Given the description of an element on the screen output the (x, y) to click on. 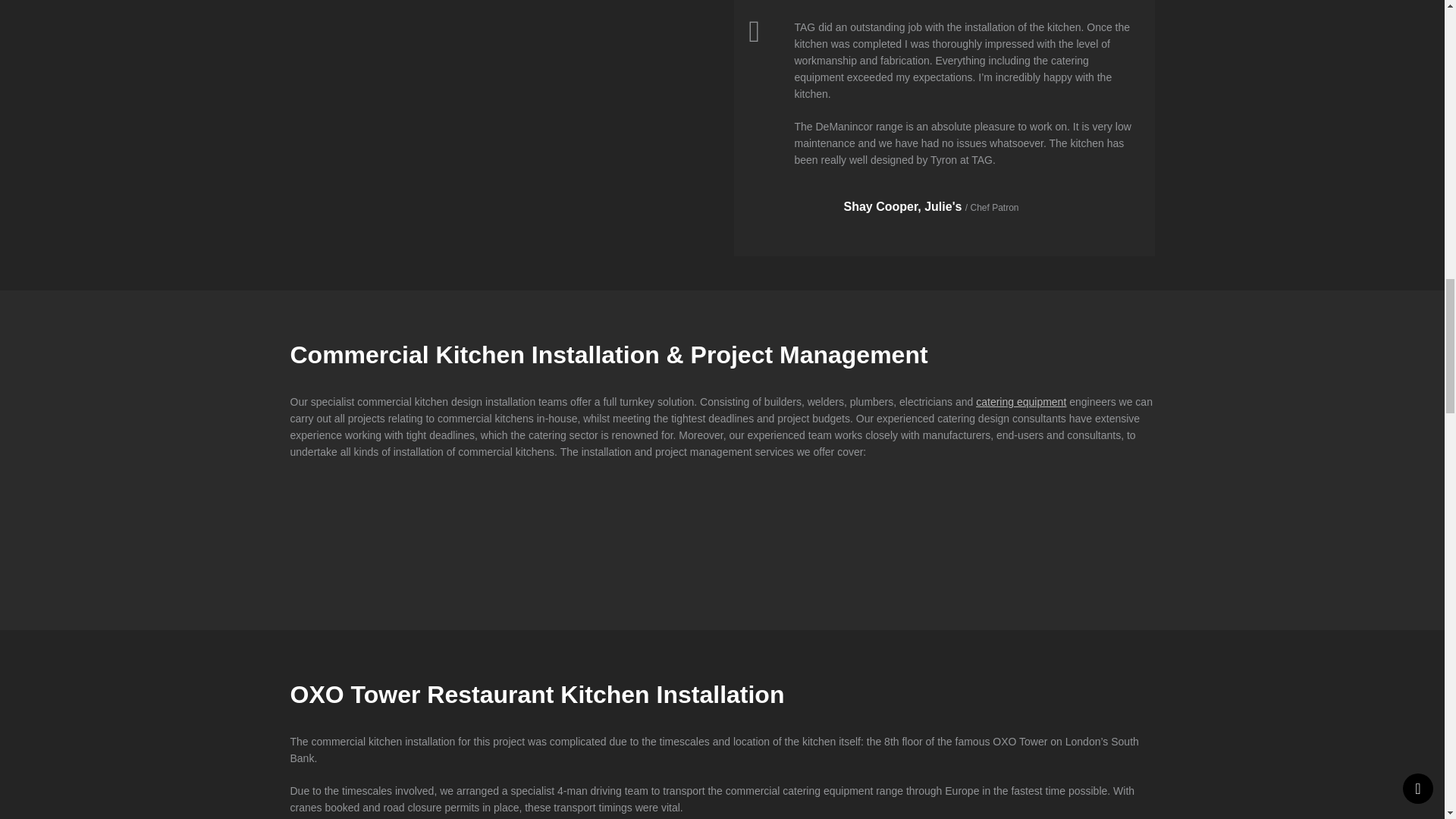
catering equipment (1020, 401)
